Given the description of an element on the screen output the (x, y) to click on. 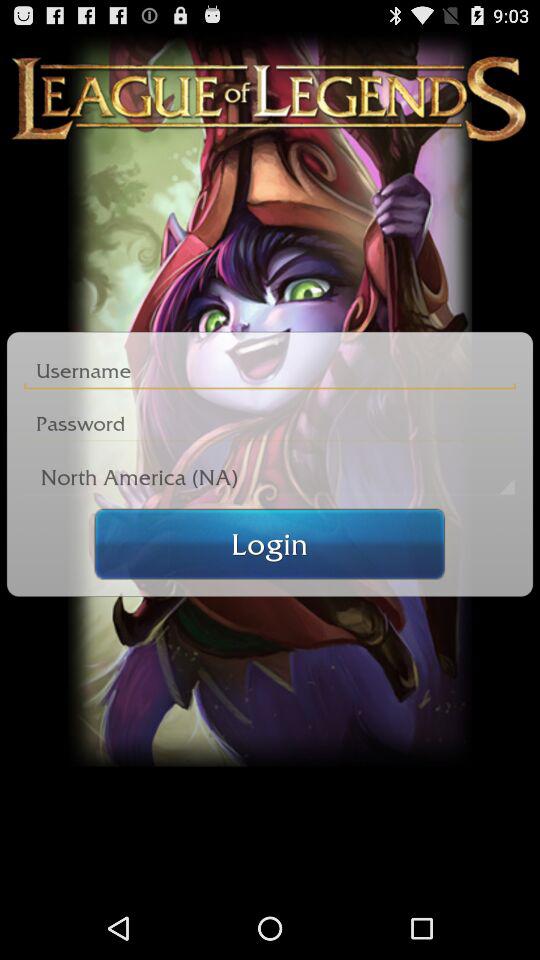
click login button (269, 543)
